Given the description of an element on the screen output the (x, y) to click on. 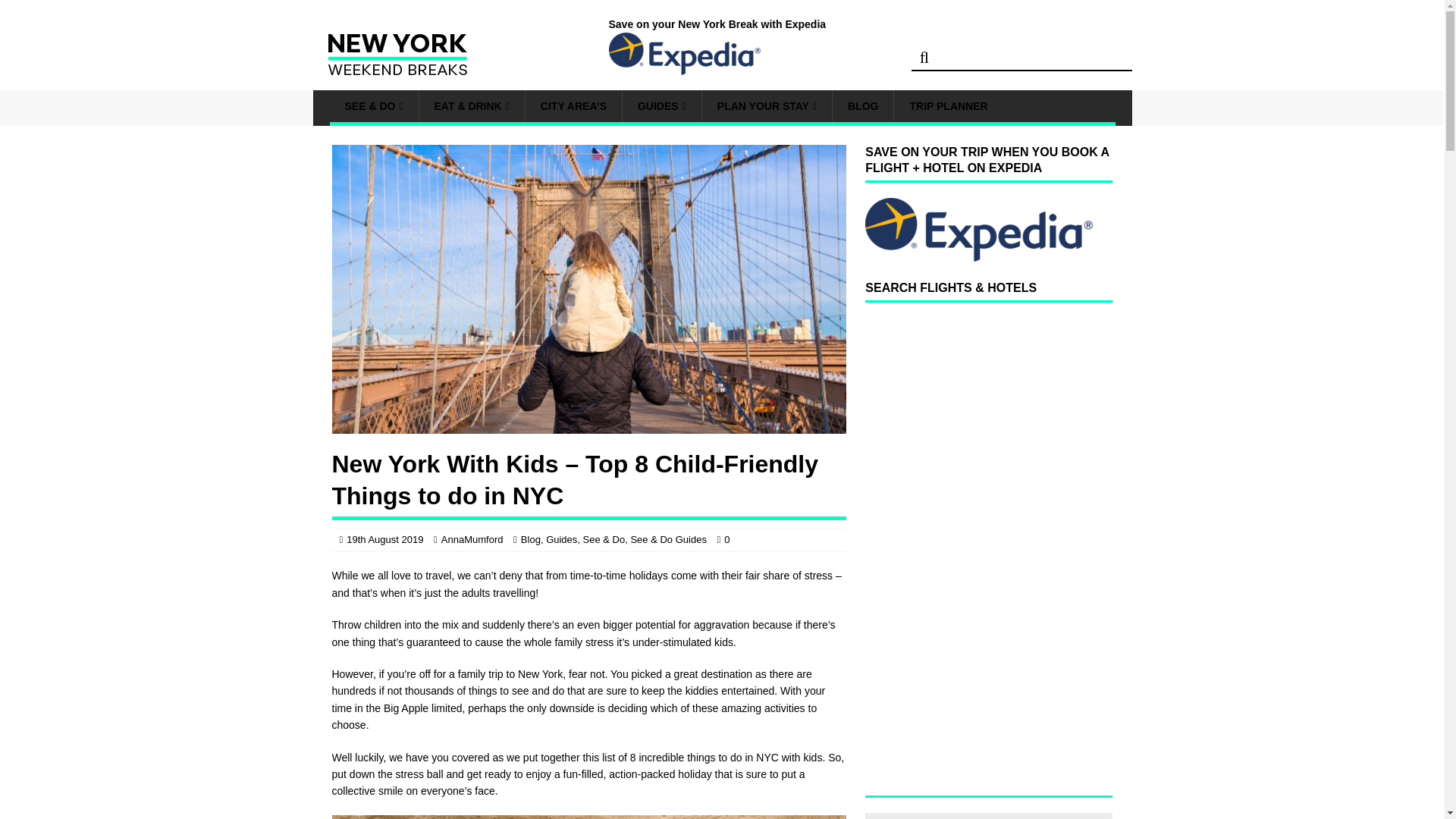
Blog (530, 539)
Guides (561, 539)
19th August 2019 (384, 539)
Save on your New York Break with Expedia (721, 45)
AnnaMumford (472, 539)
BLOG (862, 106)
PLAN YOUR STAY (766, 106)
GUIDES (661, 106)
TRIP PLANNER (948, 106)
